Given the description of an element on the screen output the (x, y) to click on. 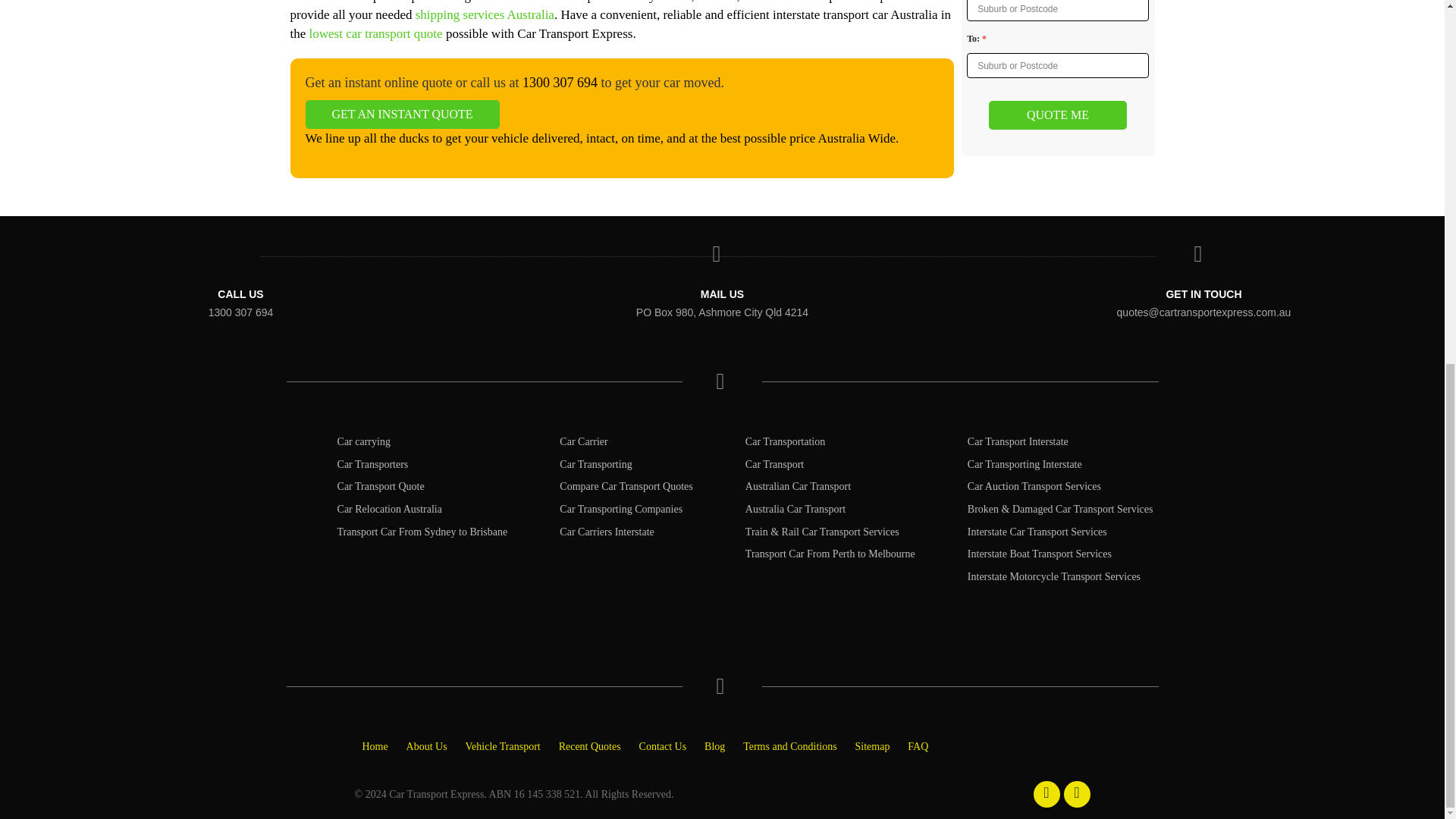
Compare Car Transport Quotes (626, 486)
Car Transporting Companies (620, 509)
lowest car transport quote (375, 33)
Australian Car Transport (797, 486)
Car Transport Quote (381, 486)
GET AN INSTANT QUOTE (401, 113)
Car Relocation Australia (389, 509)
Transport Car From Sydney to Brisbane (422, 531)
Car Transportation (785, 441)
shipping services Australia (484, 14)
Car carrying (363, 441)
Car Carriers Interstate (606, 531)
QUOTE ME (1057, 114)
Car Carrier (583, 441)
Car Transporters (373, 464)
